Given the description of an element on the screen output the (x, y) to click on. 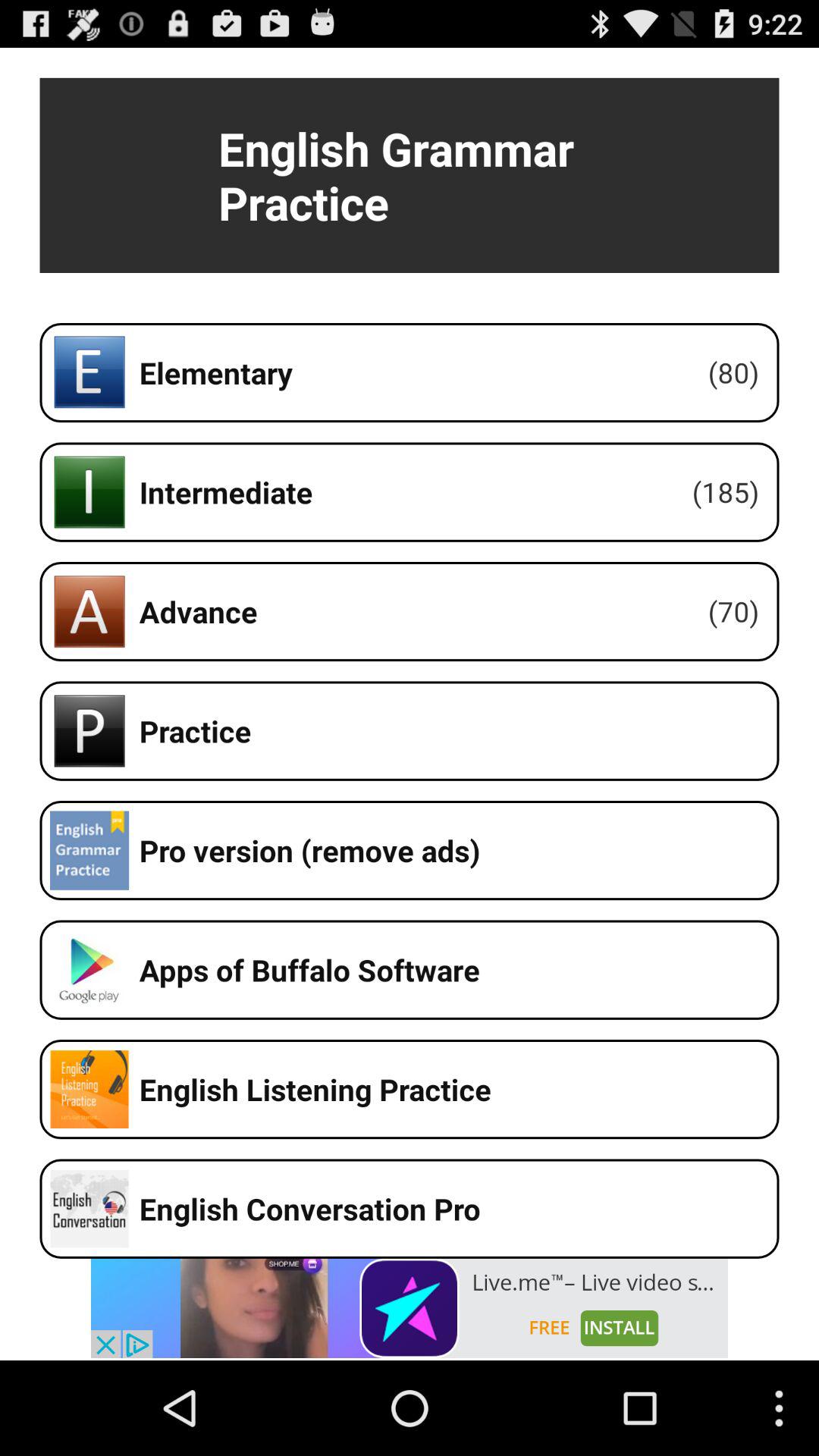
advertisement banner (409, 1308)
